Given the description of an element on the screen output the (x, y) to click on. 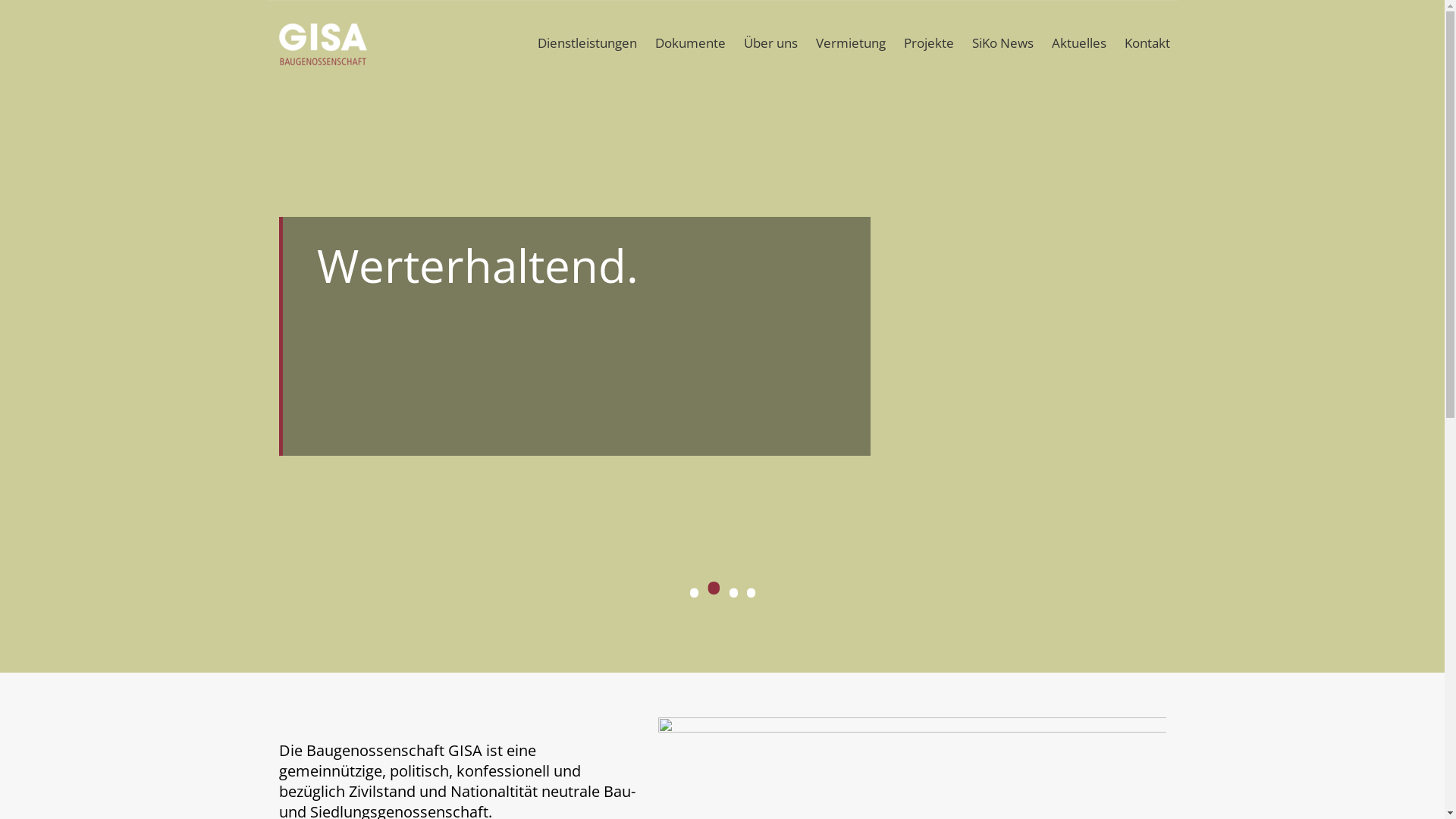
SiKo News Element type: text (1002, 42)
Vermietung Element type: text (850, 42)
Kontakt Element type: text (1146, 42)
Dienstleistungen Element type: text (586, 42)
Aktuelles Element type: text (1078, 42)
Dokumente Element type: text (690, 42)
Projekte Element type: text (928, 42)
